Given the description of an element on the screen output the (x, y) to click on. 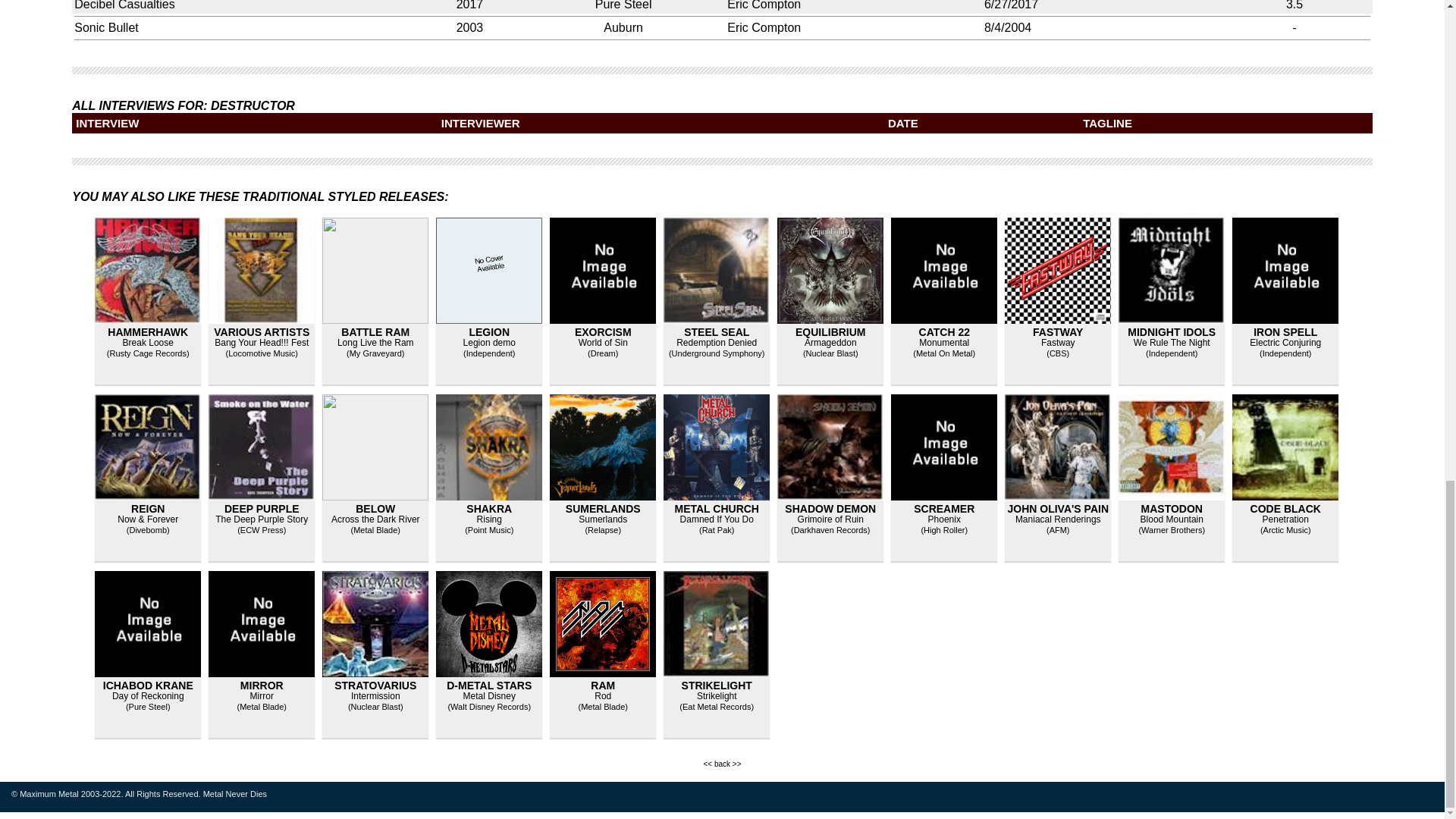
World of Sin (602, 342)
FASTWAY (1057, 331)
BATTLE RAM (374, 331)
LEGION (488, 331)
HAMMERHAWK (147, 331)
STEEL SEAL (716, 331)
Monumental (943, 342)
Fastway (1058, 342)
EQUILIBRIUM (830, 331)
Decibel Casualties (124, 5)
Long Live the Ram (375, 342)
CATCH 22 (943, 331)
Break Loose (147, 342)
Armageddon (831, 342)
Bang Your Head!!! Fest (261, 342)
